Given the description of an element on the screen output the (x, y) to click on. 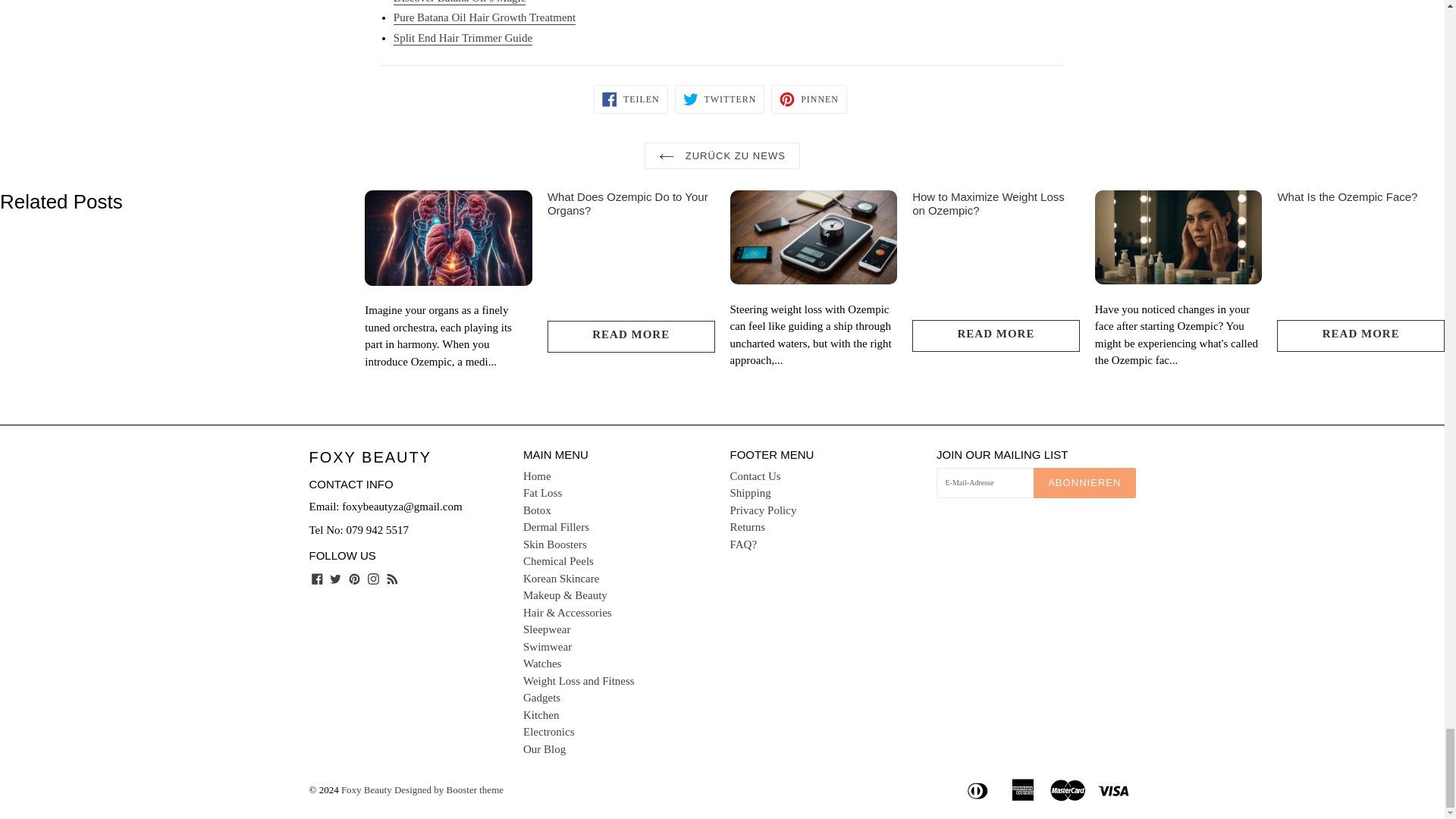
visa (1114, 788)
Foxy Beauty auf Instagram (373, 578)
Auf Twitter twittern (720, 99)
Foxy Beauty auf Twitter (335, 578)
Auf Facebook teilen (631, 99)
Auf Pinterest pinnen (809, 99)
Foxy Beauty auf Pinterest (354, 578)
american express (1024, 788)
Foxy Beauty auf Facebook (316, 578)
diners club (979, 788)
